Given the description of an element on the screen output the (x, y) to click on. 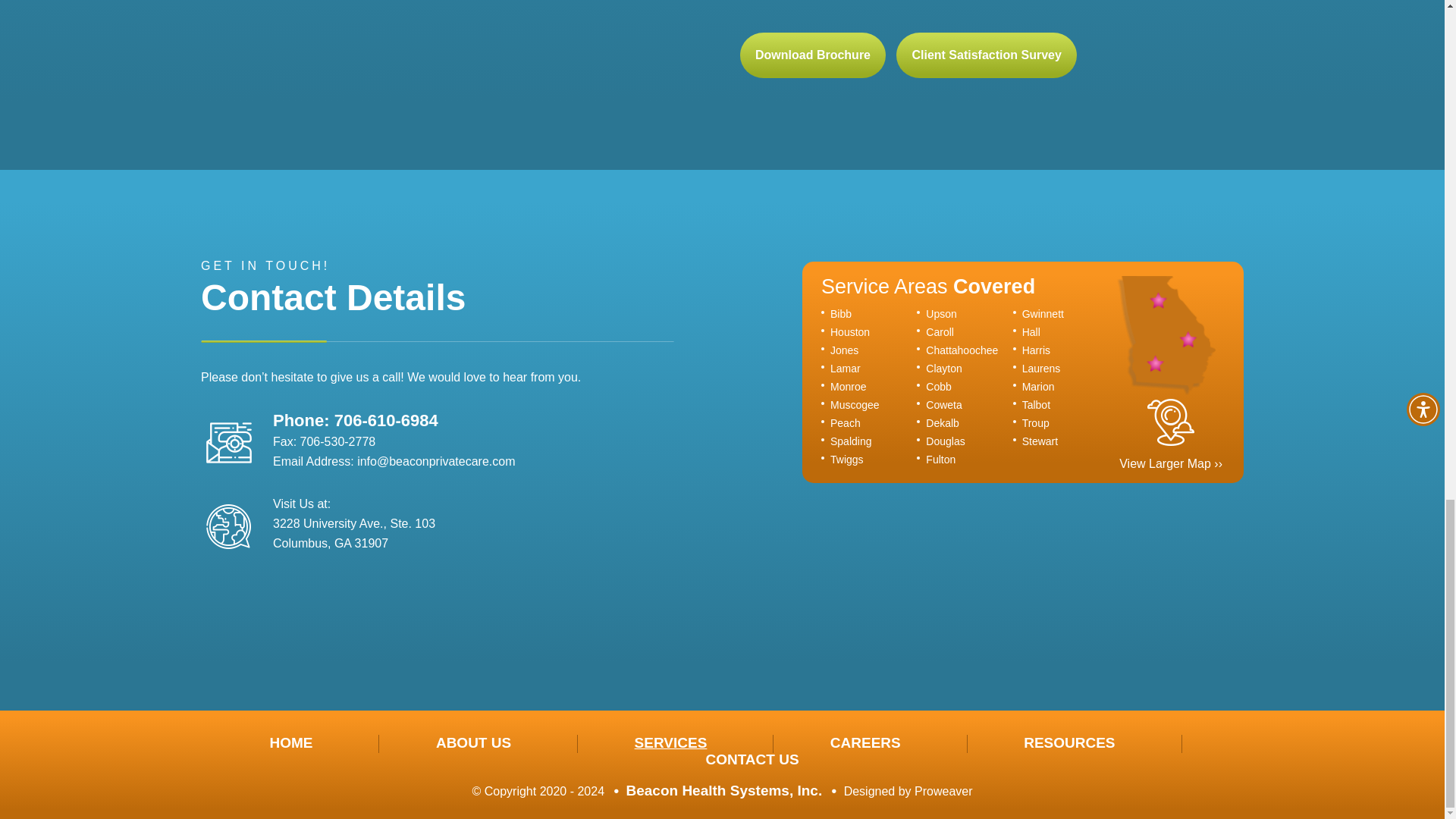
RESOURCES (1069, 742)
Download Brochure (812, 54)
Client Satisfaction Survey (985, 54)
CAREERS (865, 742)
HOME (291, 742)
ABOUT US (473, 742)
Proweaver (943, 790)
SERVICES (670, 742)
CONTACT US (750, 759)
